Given the description of an element on the screen output the (x, y) to click on. 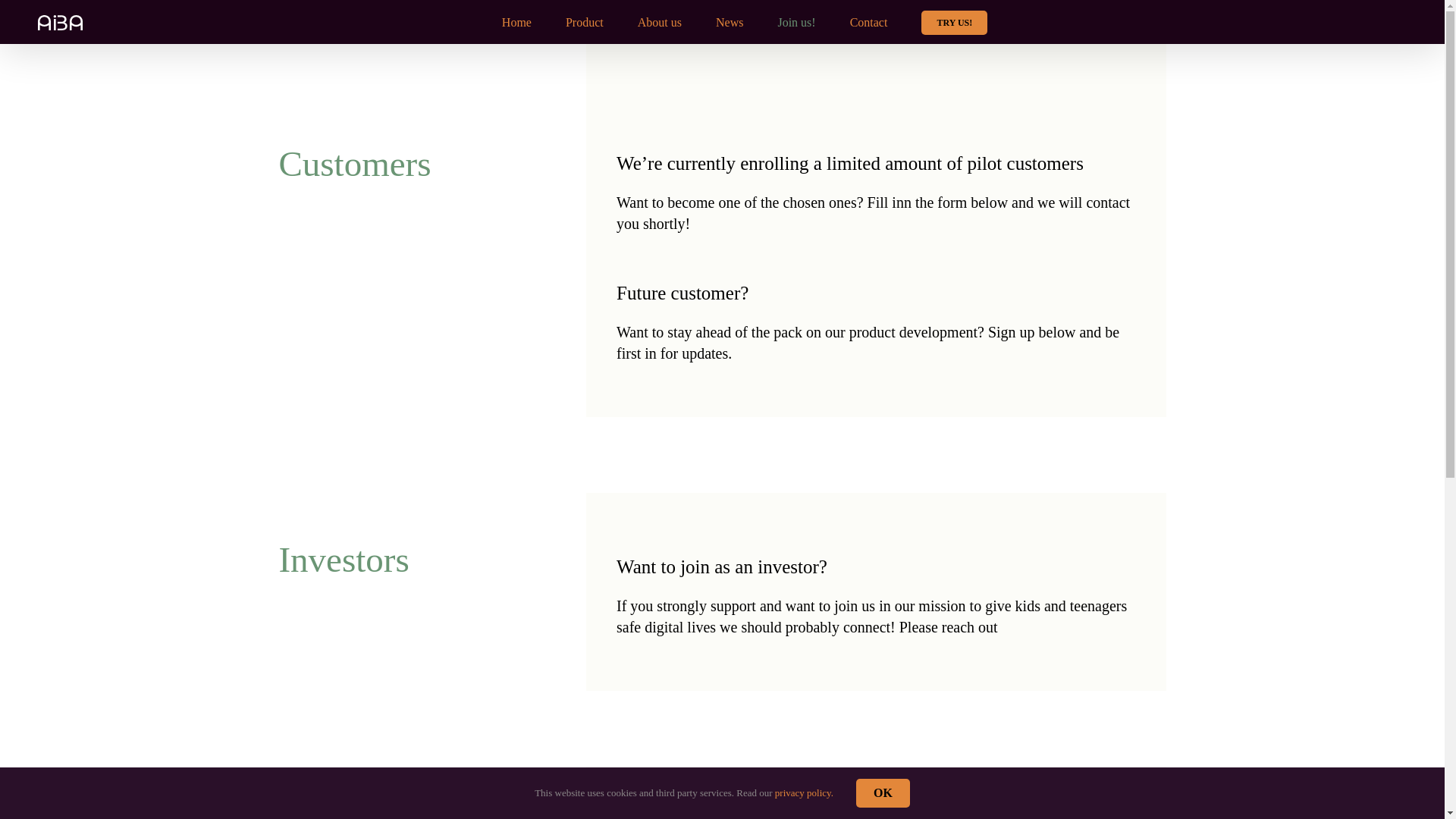
About us (659, 22)
Home (516, 22)
Join us! (796, 22)
News (729, 22)
Contact (869, 22)
TRY US! (954, 22)
Product (585, 22)
